Given the description of an element on the screen output the (x, y) to click on. 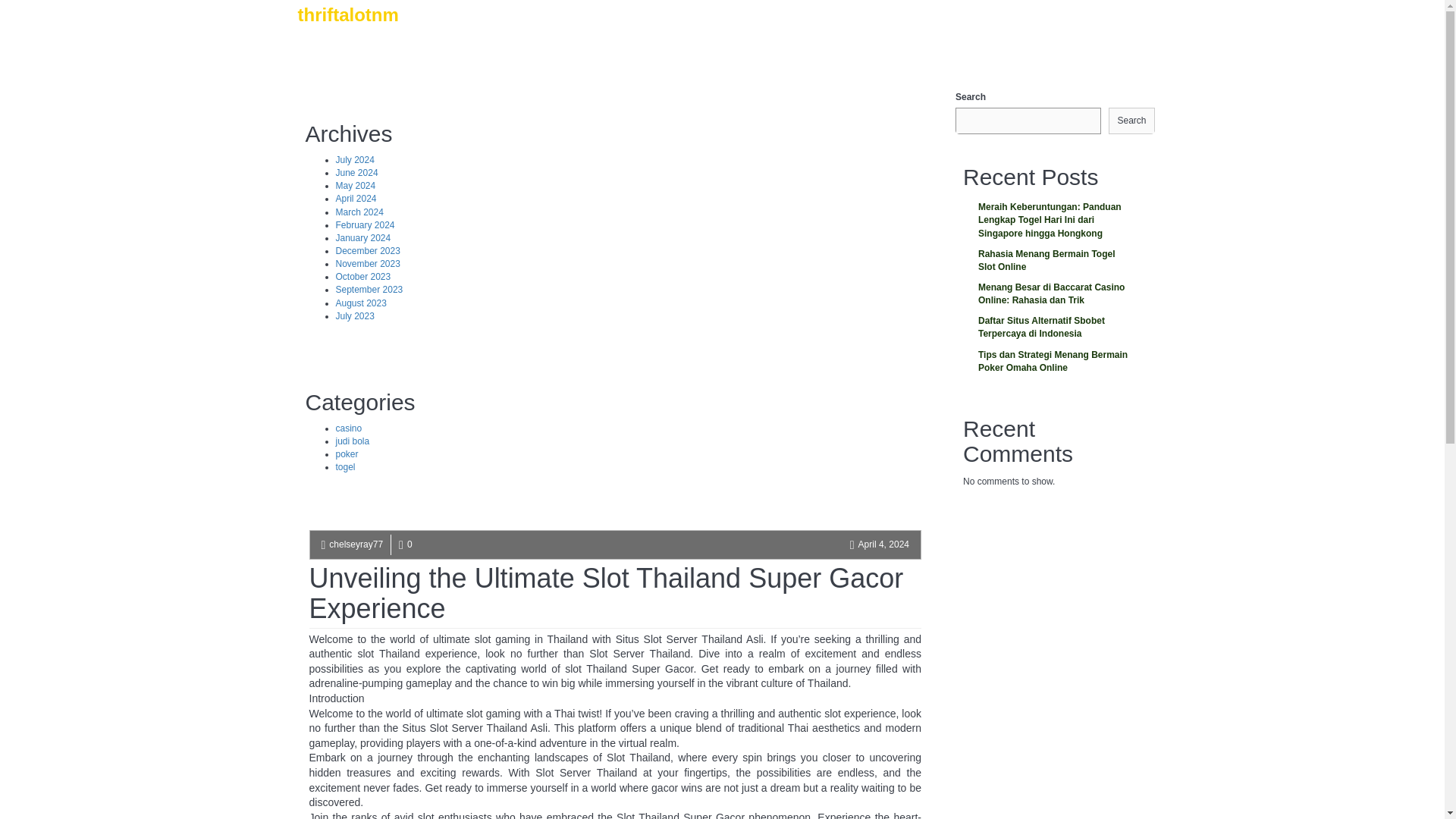
July 2024 (354, 159)
chelseyray77 (355, 543)
judi bola (351, 440)
April 2024 (354, 198)
December 2023 (366, 250)
Daftar Situs Alternatif Sbobet Terpercaya di Indonesia (1054, 327)
May 2024 (354, 185)
thriftalotnm (347, 33)
September 2023 (368, 289)
Tips dan Strategi Menang Bermain Poker Omaha Online (1054, 361)
August 2023 (359, 303)
poker (346, 453)
Search (1131, 120)
October 2023 (362, 276)
